Given the description of an element on the screen output the (x, y) to click on. 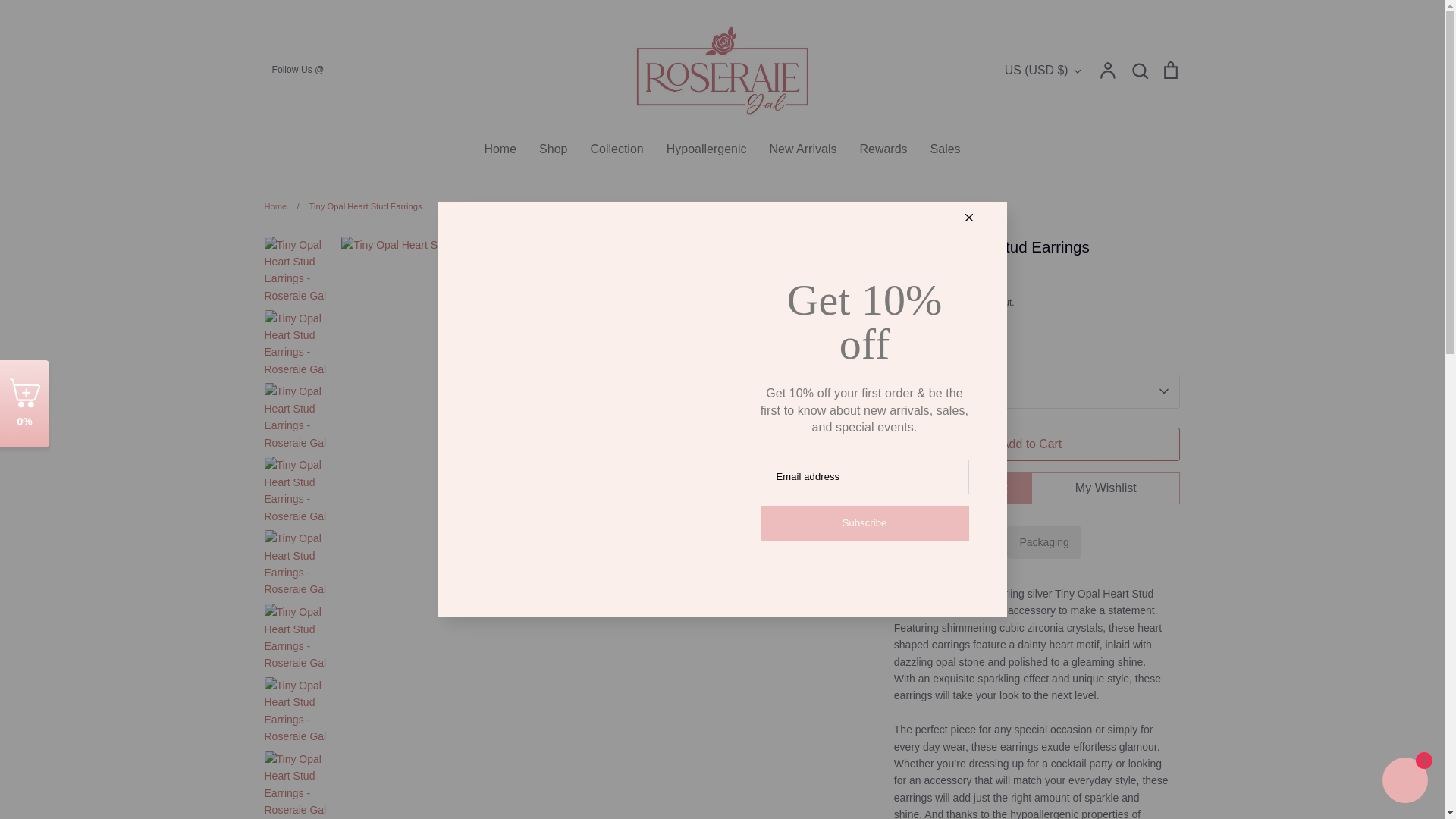
Shopify online store chat (1404, 781)
